Given the description of an element on the screen output the (x, y) to click on. 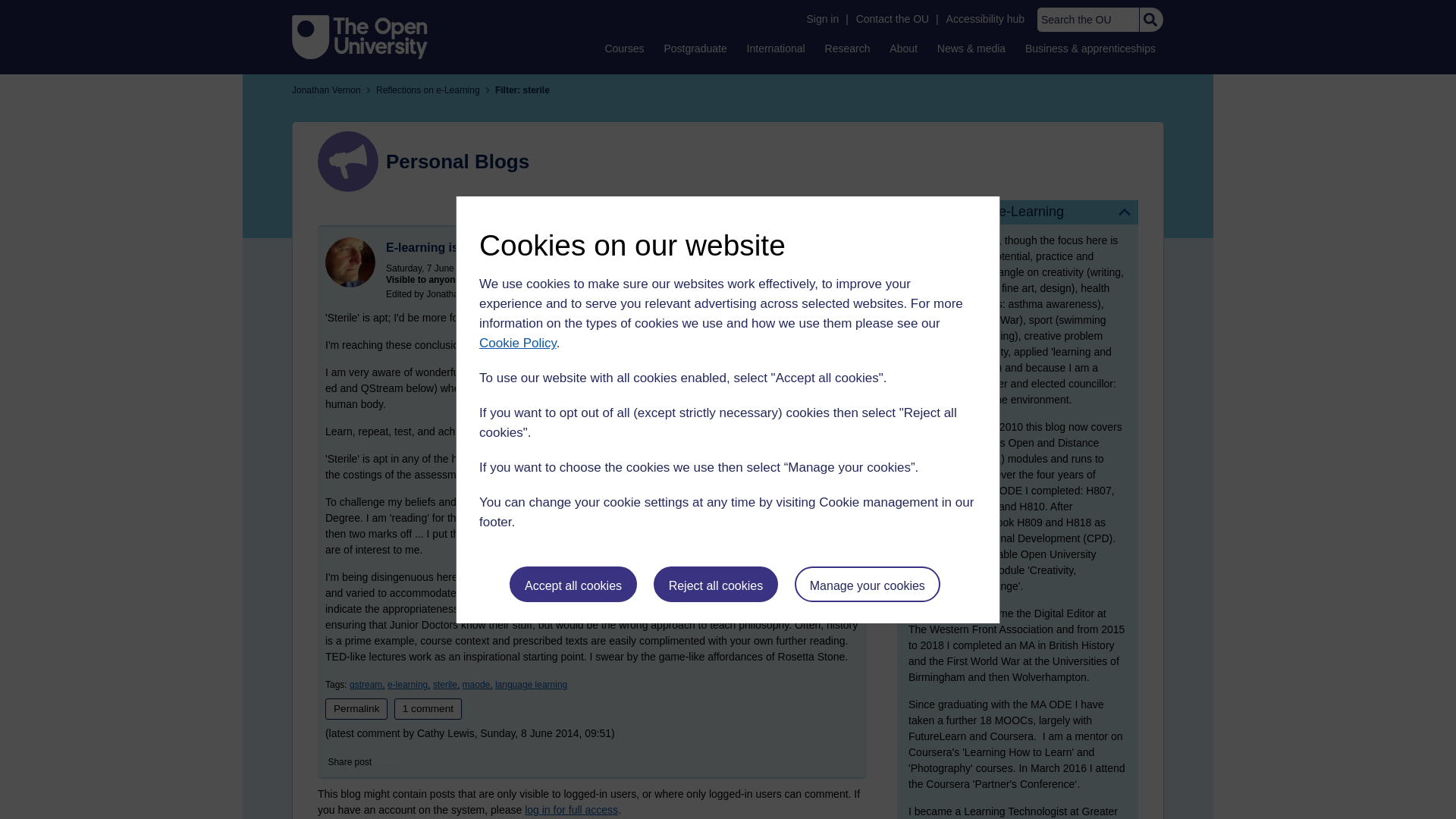
Research (847, 48)
Search (1149, 19)
Reflections on e-Learning (1017, 211)
International (775, 48)
Courses (623, 48)
About (903, 48)
Accessibility hub (985, 19)
Sign in (822, 19)
Search (1149, 19)
Postgraduate (695, 48)
Manage your cookies (867, 583)
The Open University (360, 36)
Contact the OU (892, 19)
Reject all cookies (715, 583)
